Given the description of an element on the screen output the (x, y) to click on. 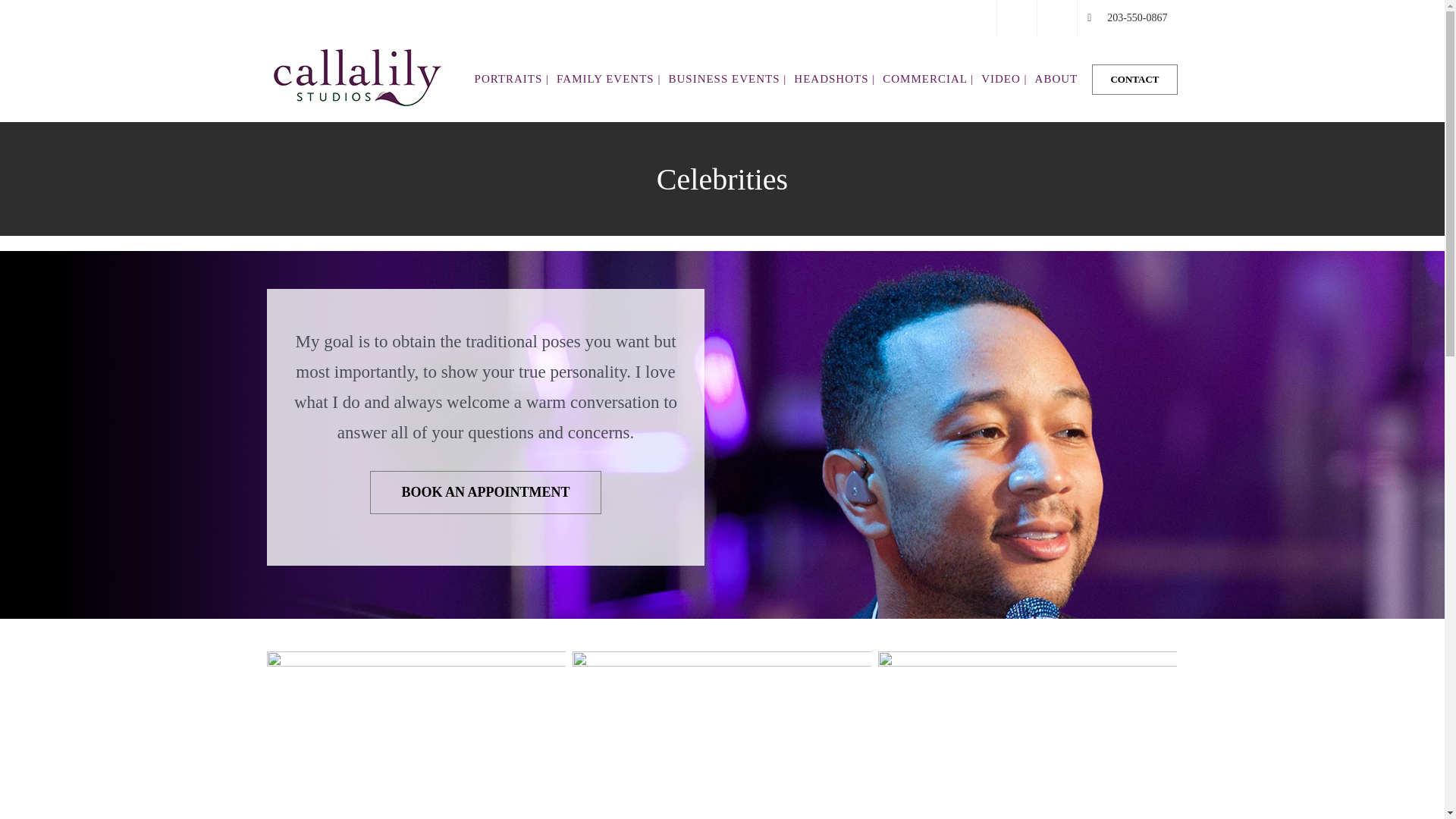
CONTACT (1134, 78)
203-550-0867 (1126, 18)
ABOUT   (1059, 78)
